Given the description of an element on the screen output the (x, y) to click on. 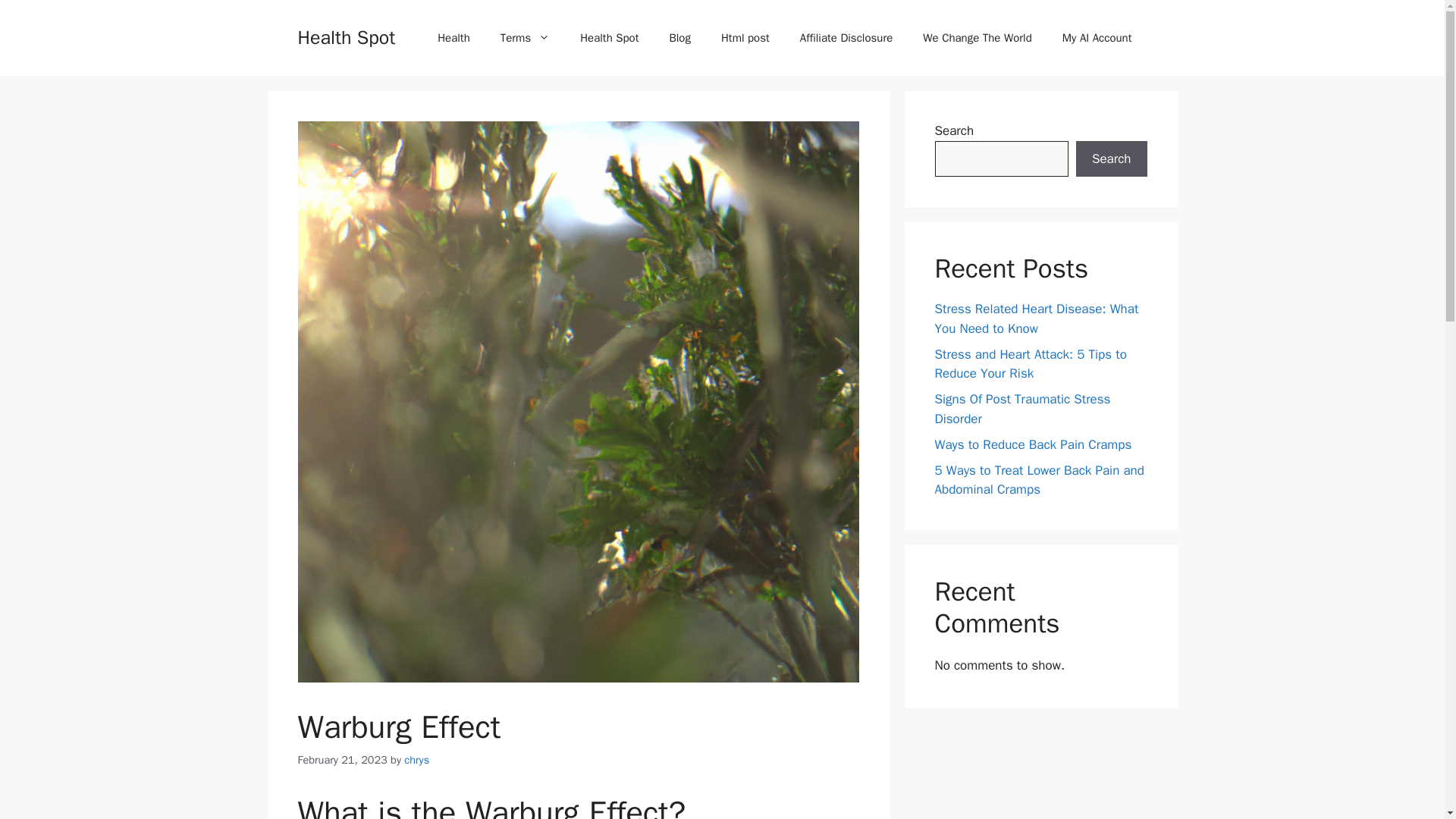
My AI Account (1096, 37)
Stress and Heart Attack: 5 Tips to Reduce Your Risk (1029, 363)
Terms (524, 37)
Stress Related Heart Disease: What You Need to Know (1036, 318)
Ways to Reduce Back Pain Cramps (1032, 444)
Blog (678, 37)
5 Ways to Treat Lower Back Pain and Abdominal Cramps (1038, 479)
View all posts by chrys (416, 759)
Health Spot (608, 37)
Affiliate Disclosure (846, 37)
Health Spot (345, 37)
Signs Of Post Traumatic Stress Disorder (1021, 408)
Search (1111, 158)
We Change The World (976, 37)
Health (453, 37)
